Given the description of an element on the screen output the (x, y) to click on. 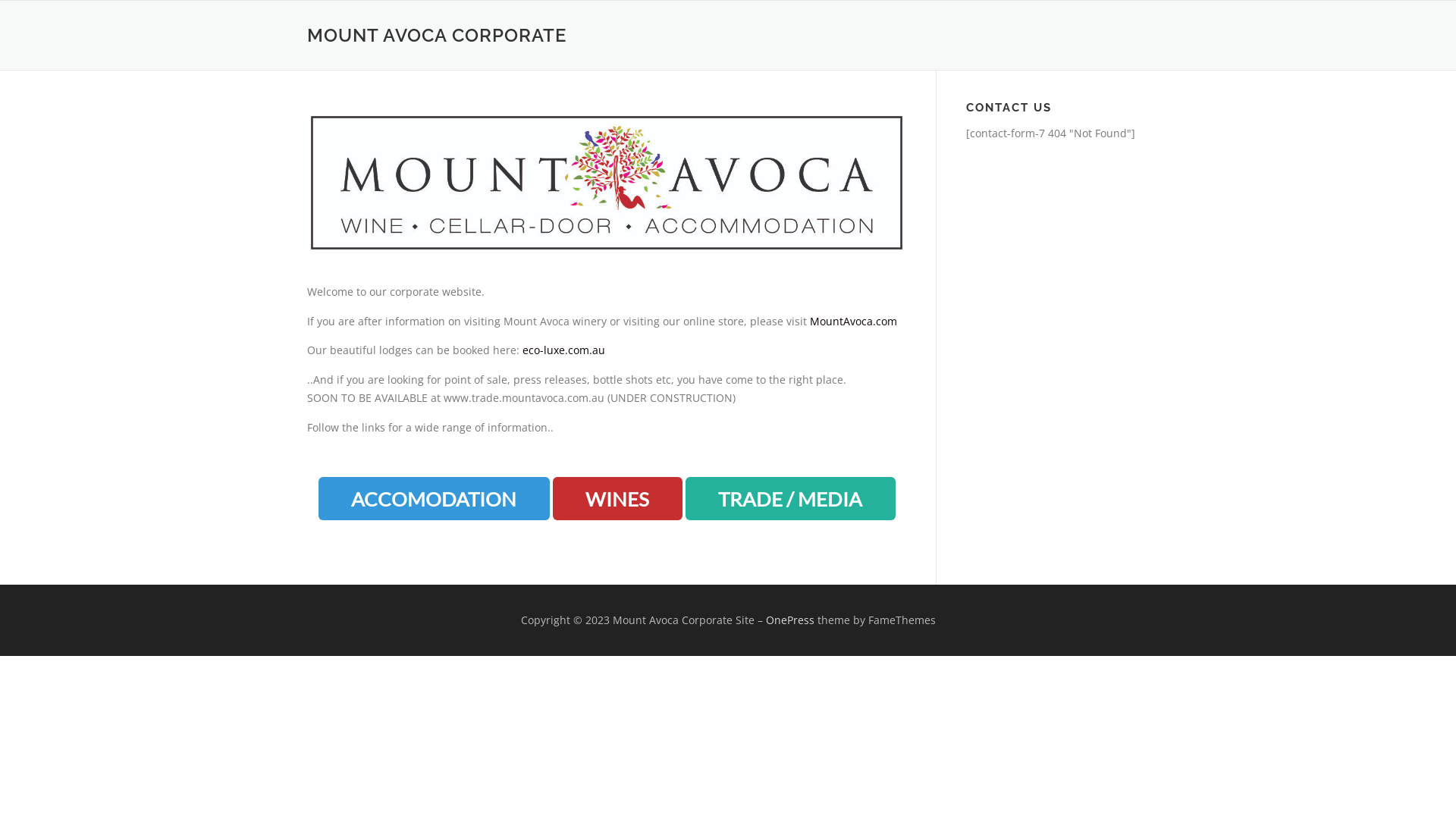
OnePress Element type: text (789, 619)
ACCOMODATION Element type: text (433, 498)
eco-luxe.com.au Element type: text (563, 349)
WINES Element type: text (616, 498)
MountAvoca.com Element type: text (853, 320)
Skip to content Element type: text (37, 9)
TRADE / MEDIA Element type: text (790, 498)
